Given the description of an element on the screen output the (x, y) to click on. 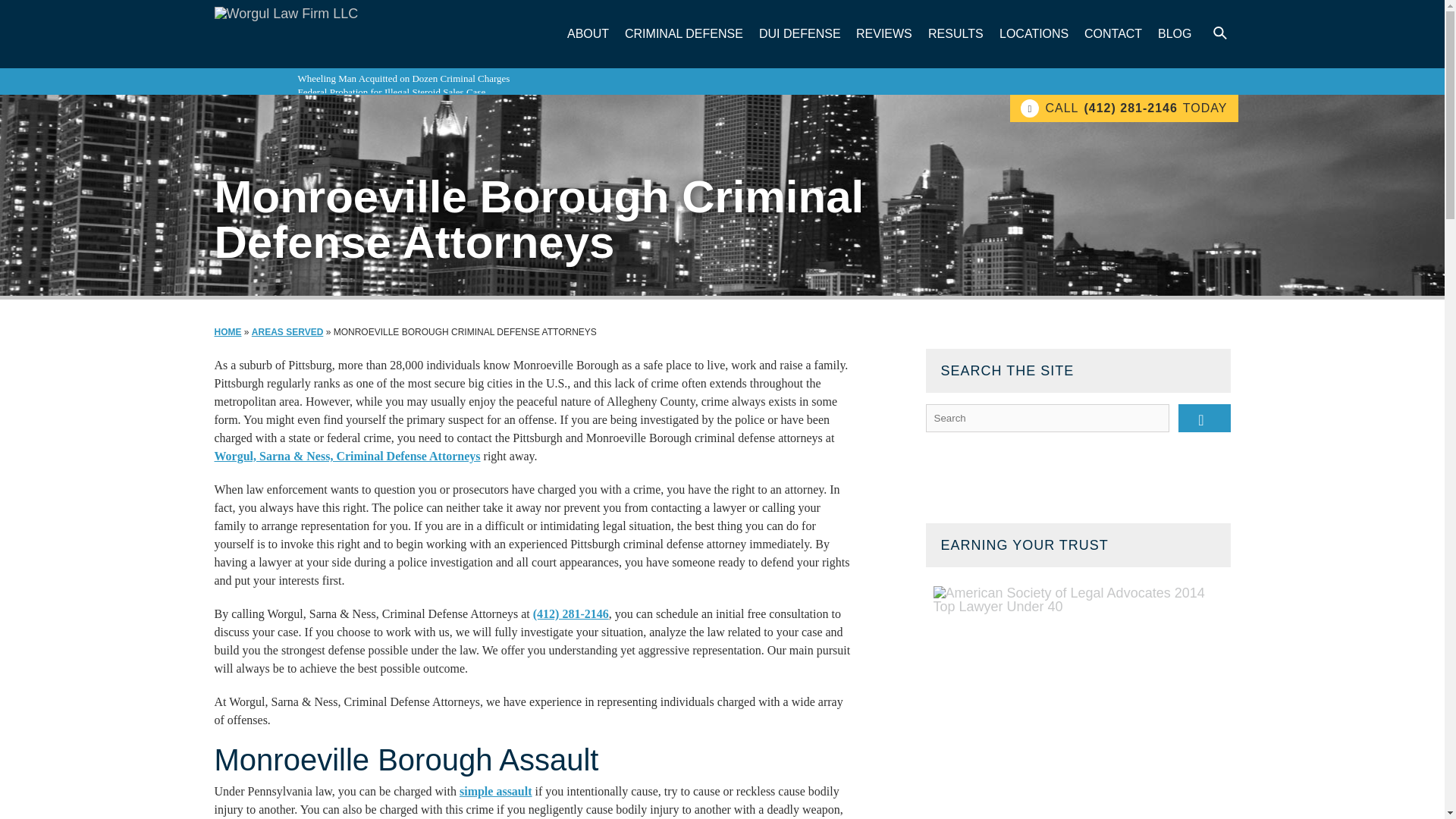
Call Worgul, Sarna and Ness Today (570, 613)
Wheeling Man Acquitted on Dozen Criminal Charges (403, 78)
Federal Probation for Illegal Steroid Sales Case (390, 91)
Federal Probation for Illegal Steroid Sales Case (390, 91)
Wheeling Man Acquitted on Dozen Criminal Charges (403, 78)
PITTSBURGH CRIMINAL DEFENSE ATTORNEY (347, 455)
Simple Assault (496, 790)
CRIMINAL DEFENSE (683, 33)
